Given the description of an element on the screen output the (x, y) to click on. 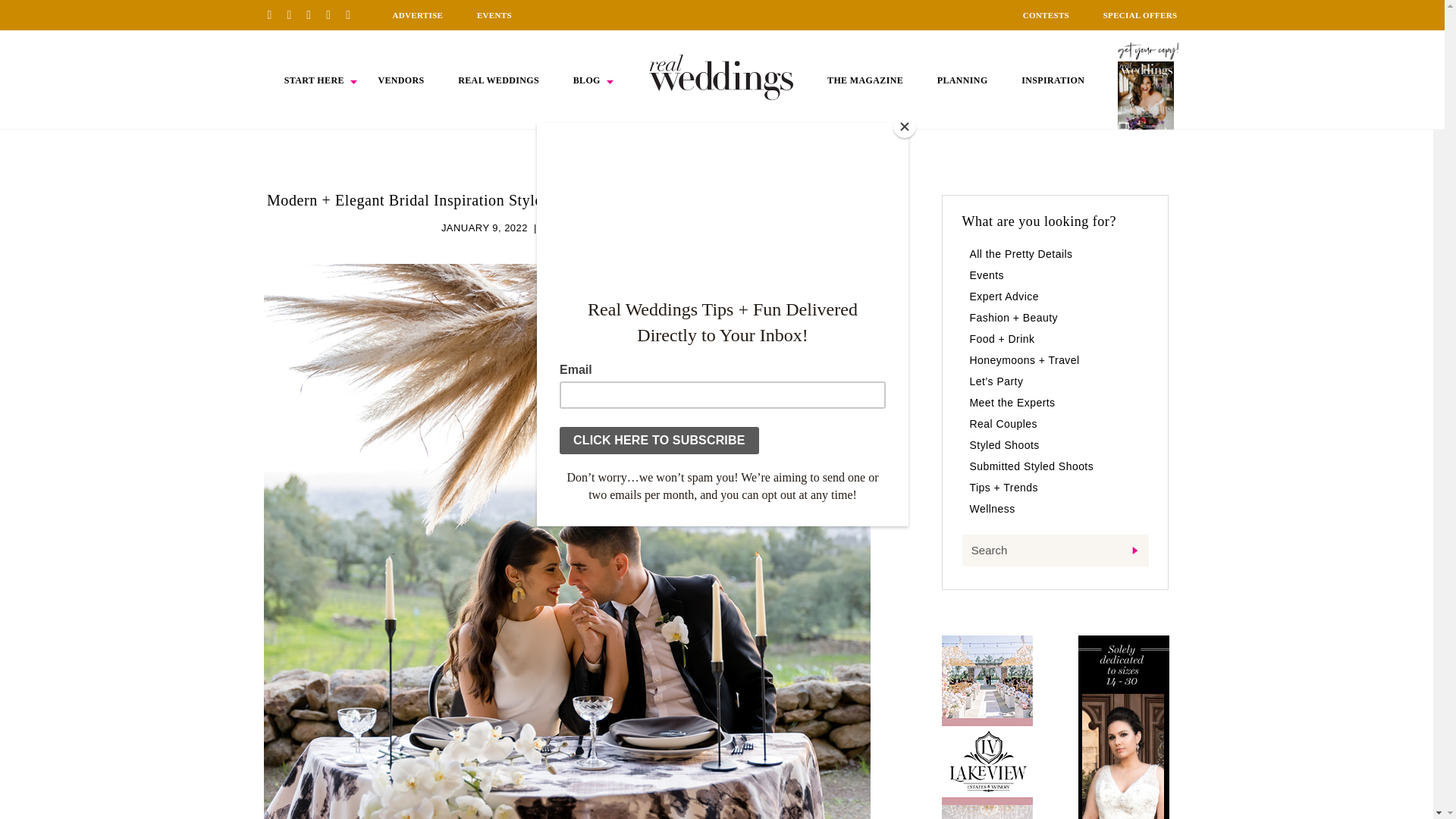
BLOG (586, 80)
Instagram (313, 14)
Pinterest (274, 14)
VENDORS (400, 80)
SPECIAL OFFERS (1140, 14)
HOME (721, 76)
Search (1054, 550)
REAL WEDDINGS (498, 80)
Search (1054, 550)
SUBMITTED STYLED SHOOTS (618, 227)
Facebook (294, 14)
ADVERTISE (416, 14)
Twitter (334, 14)
START HERE (313, 80)
CONTESTS (1045, 14)
